Given the description of an element on the screen output the (x, y) to click on. 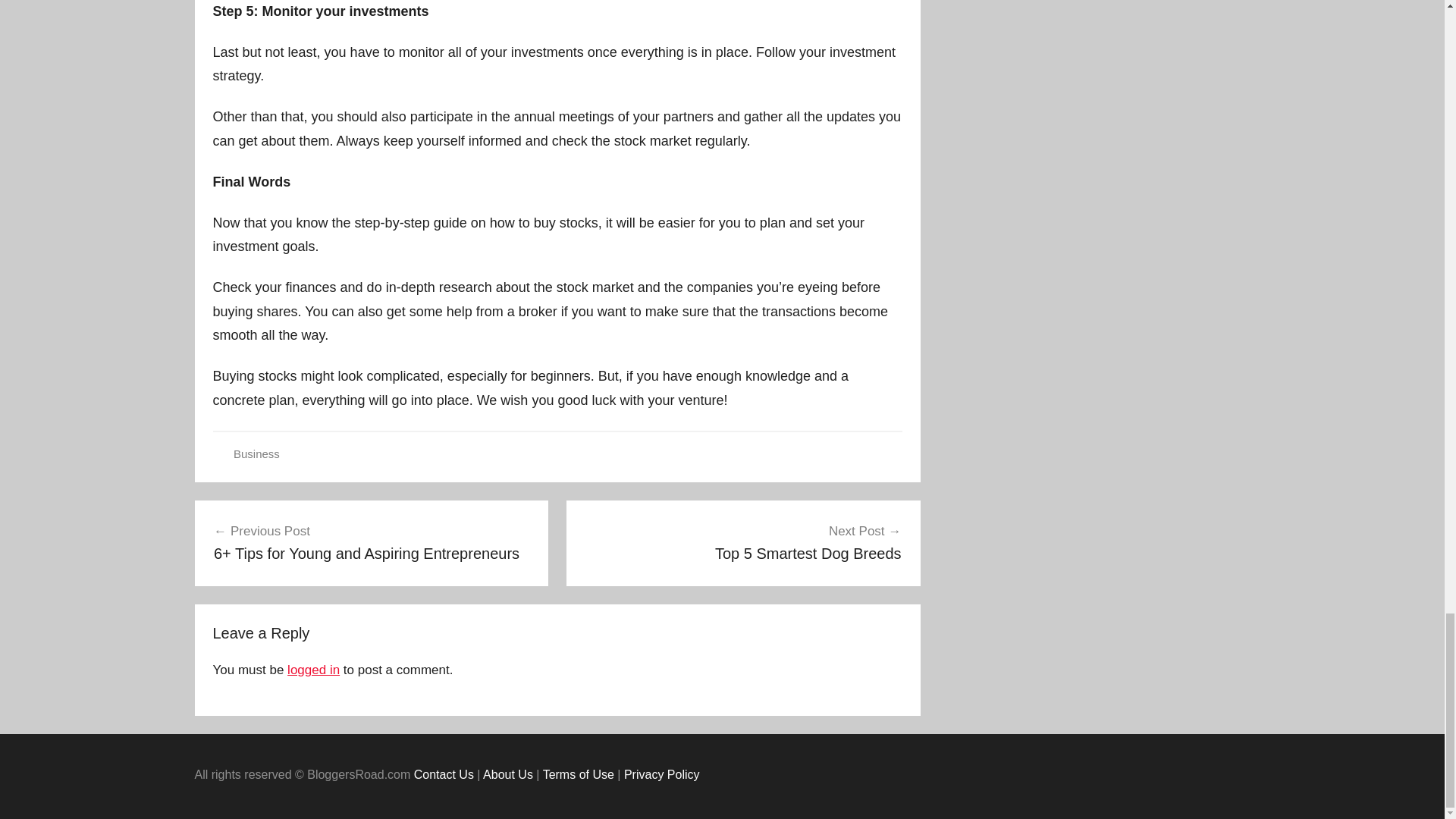
logged in (312, 669)
Privacy Policy (662, 774)
Terms of Use (578, 774)
About Us (507, 774)
Business (255, 453)
Contact Us (743, 542)
